Given the description of an element on the screen output the (x, y) to click on. 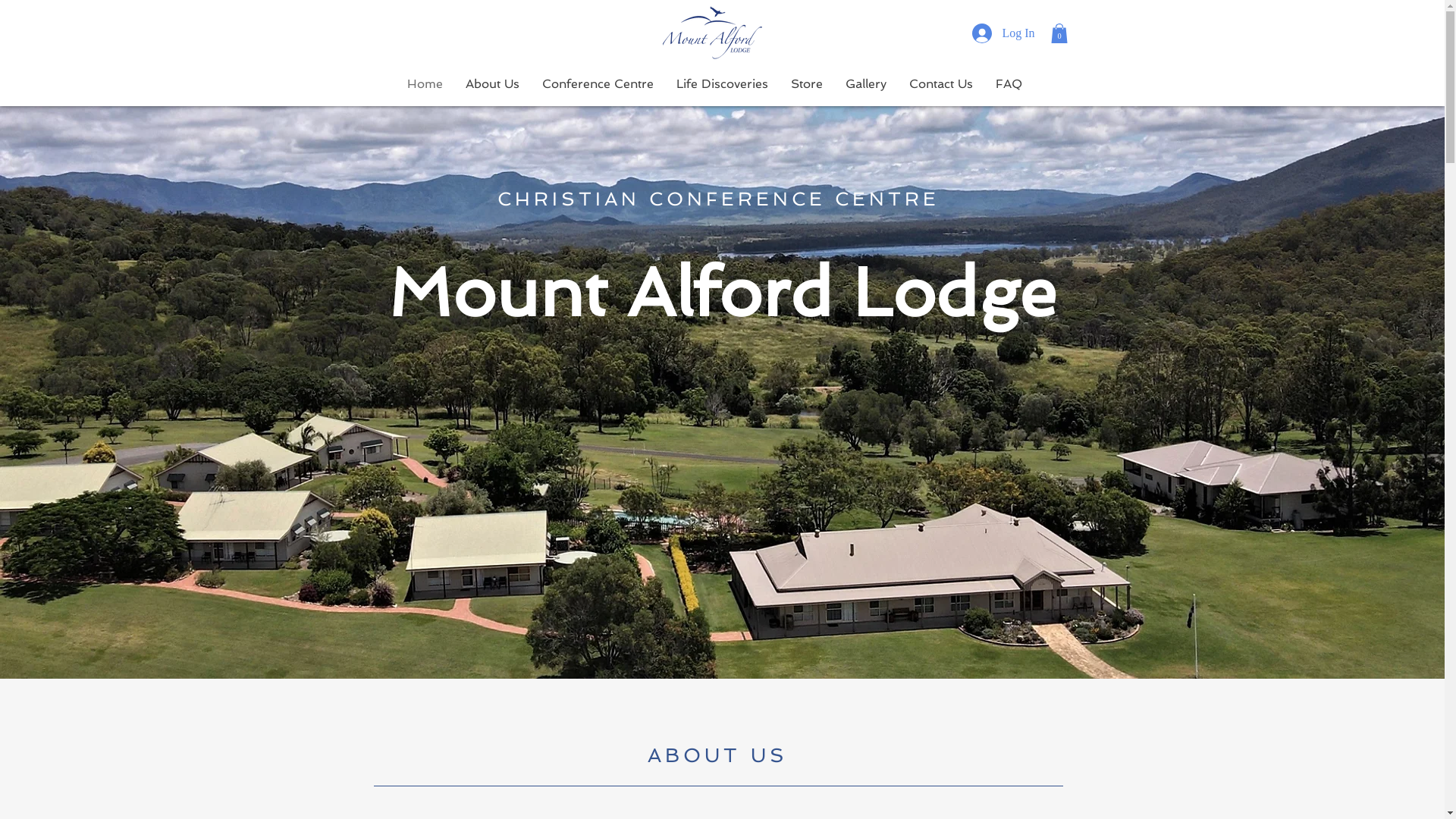
Store Element type: text (806, 84)
Gallery Element type: text (865, 84)
Log In Element type: text (989, 32)
0 Element type: text (1059, 33)
About Us Element type: text (491, 84)
Conference Centre Element type: text (597, 84)
Home Element type: text (424, 84)
Contact Us Element type: text (940, 84)
Life Discoveries Element type: text (721, 84)
FAQ Element type: text (1008, 84)
